Given the description of an element on the screen output the (x, y) to click on. 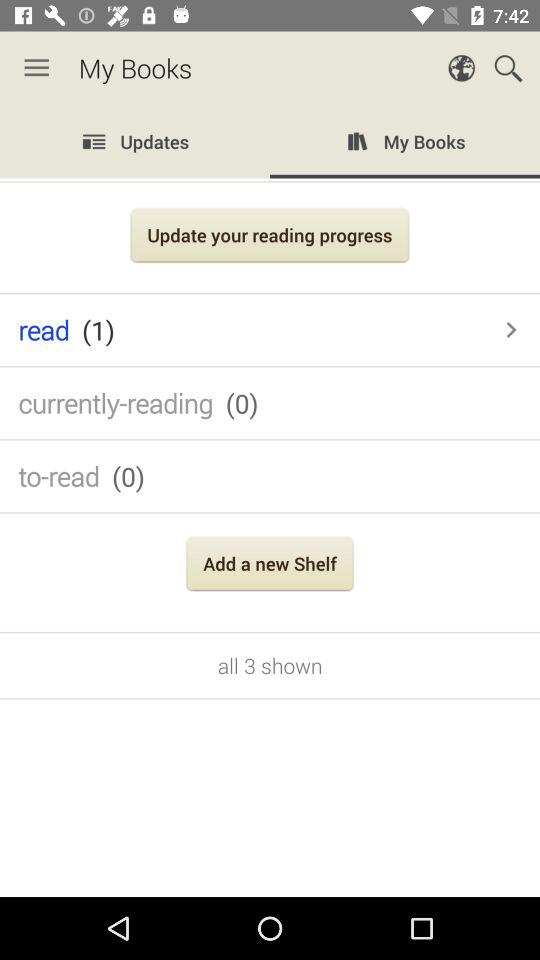
jump to the update your reading item (269, 237)
